Given the description of an element on the screen output the (x, y) to click on. 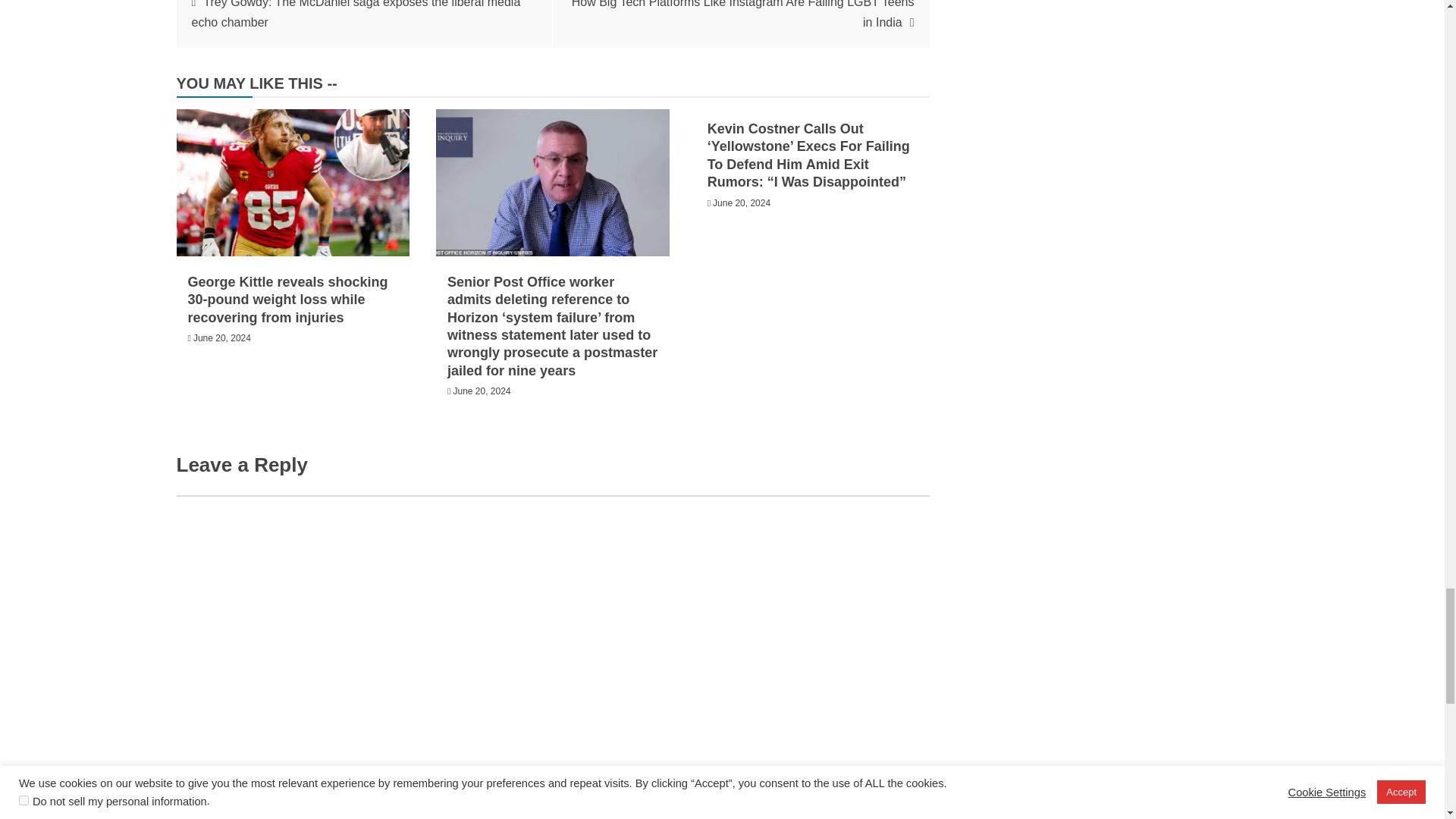
June 20, 2024 (221, 337)
June 20, 2024 (741, 203)
June 20, 2024 (481, 390)
